Given the description of an element on the screen output the (x, y) to click on. 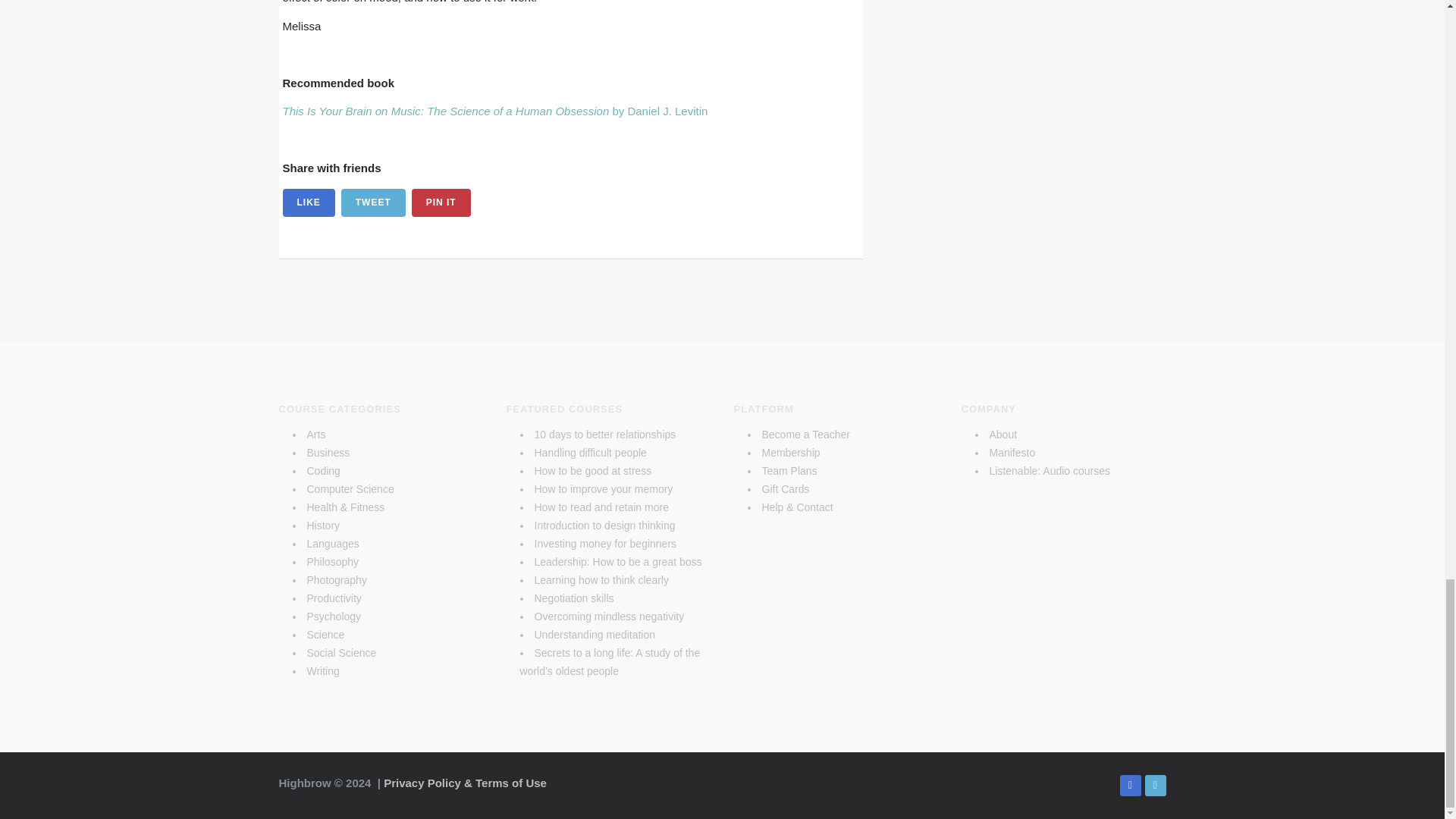
Computer Science (349, 489)
Arts (314, 434)
Business (327, 452)
TWEET (373, 203)
LIKE (308, 203)
Coding (322, 470)
Languages (331, 543)
PIN IT (441, 203)
History (322, 525)
